Given the description of an element on the screen output the (x, y) to click on. 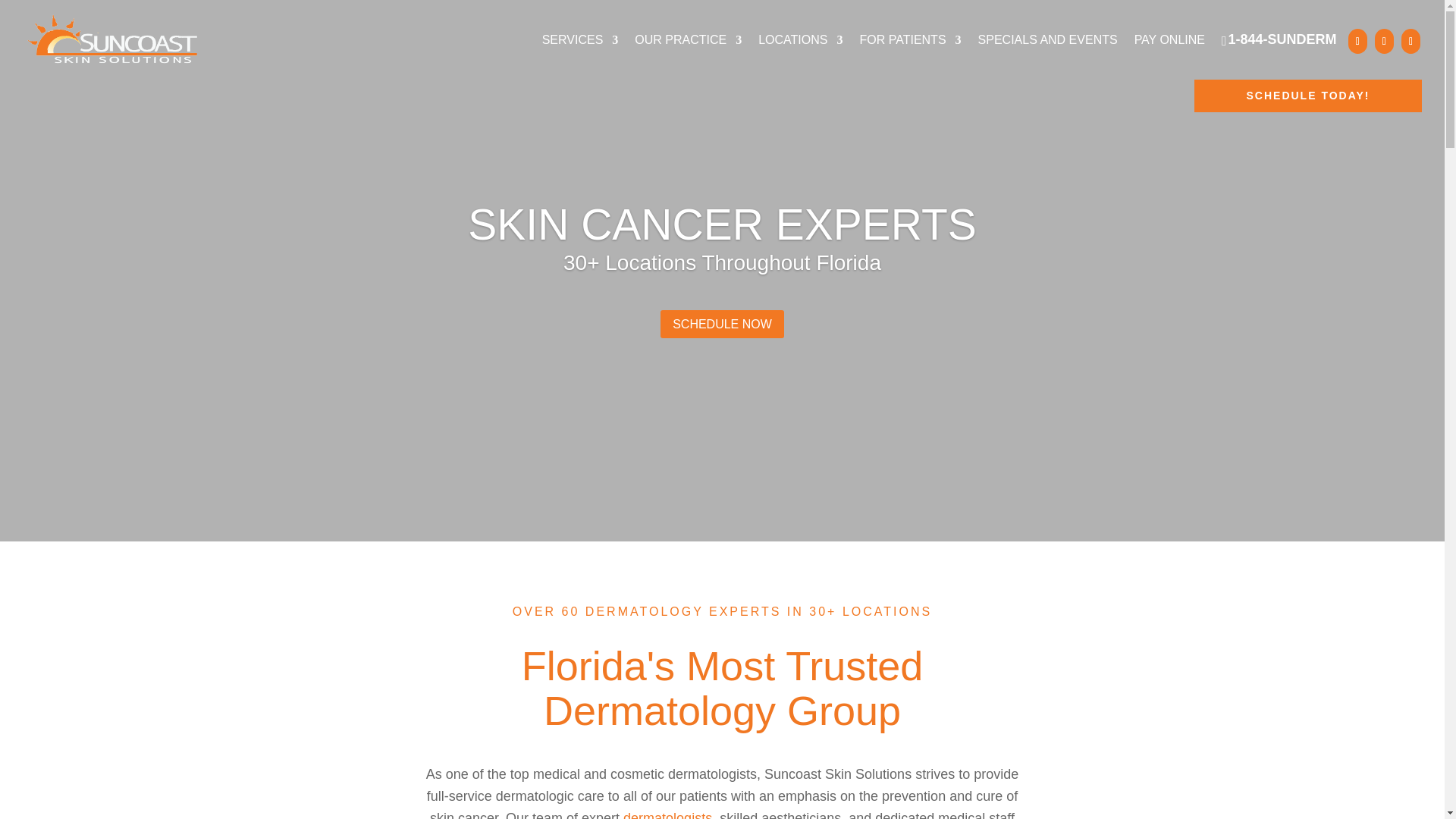
Accessibility Helper sidebar (18, 701)
SERVICES (579, 47)
